Given the description of an element on the screen output the (x, y) to click on. 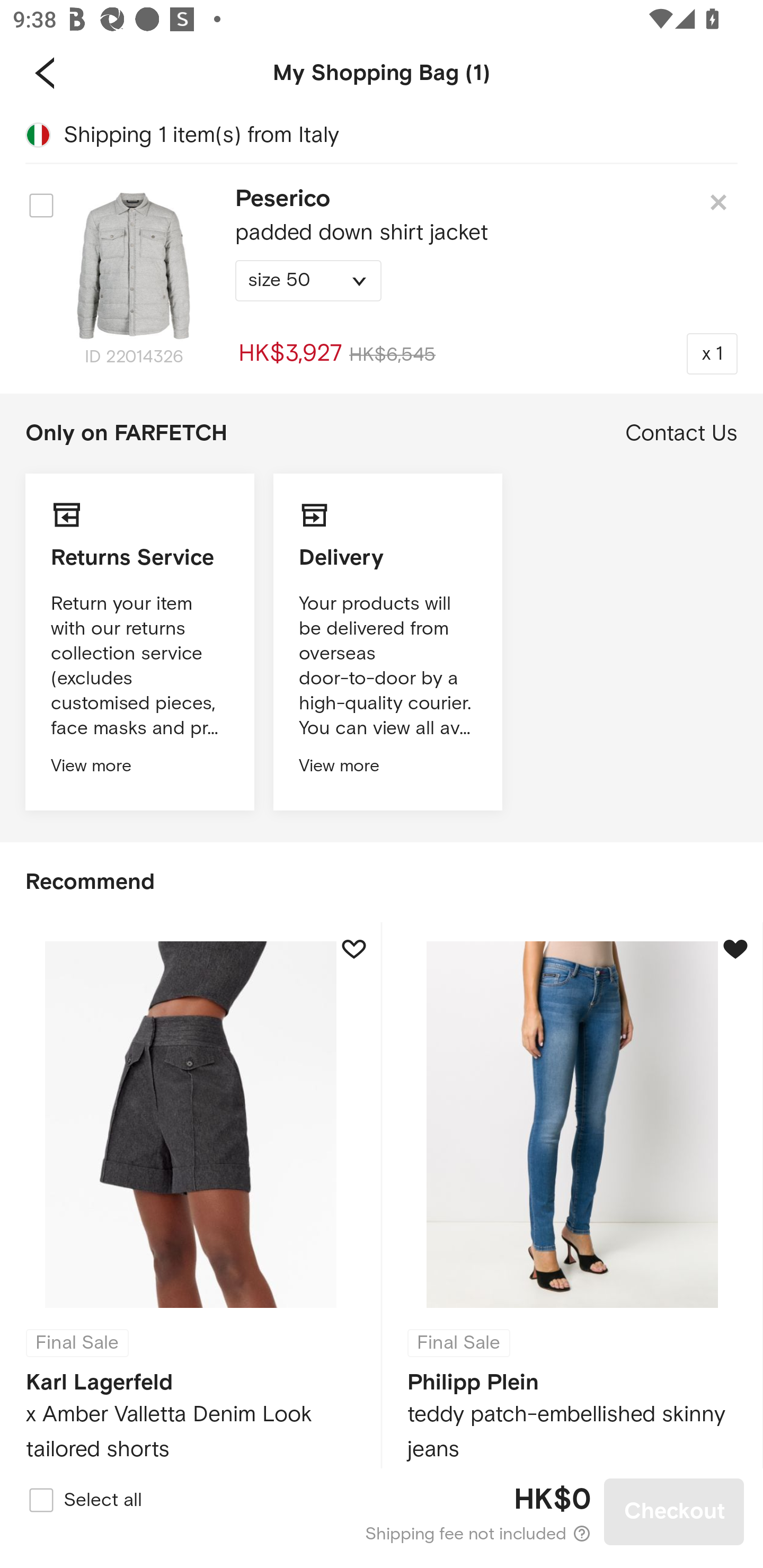
size 50 (308, 280)
x 1 (711, 353)
Contact Us (680, 433)
HK$0 Shipping fee not included (382, 1512)
Checkout (673, 1511)
